Given the description of an element on the screen output the (x, y) to click on. 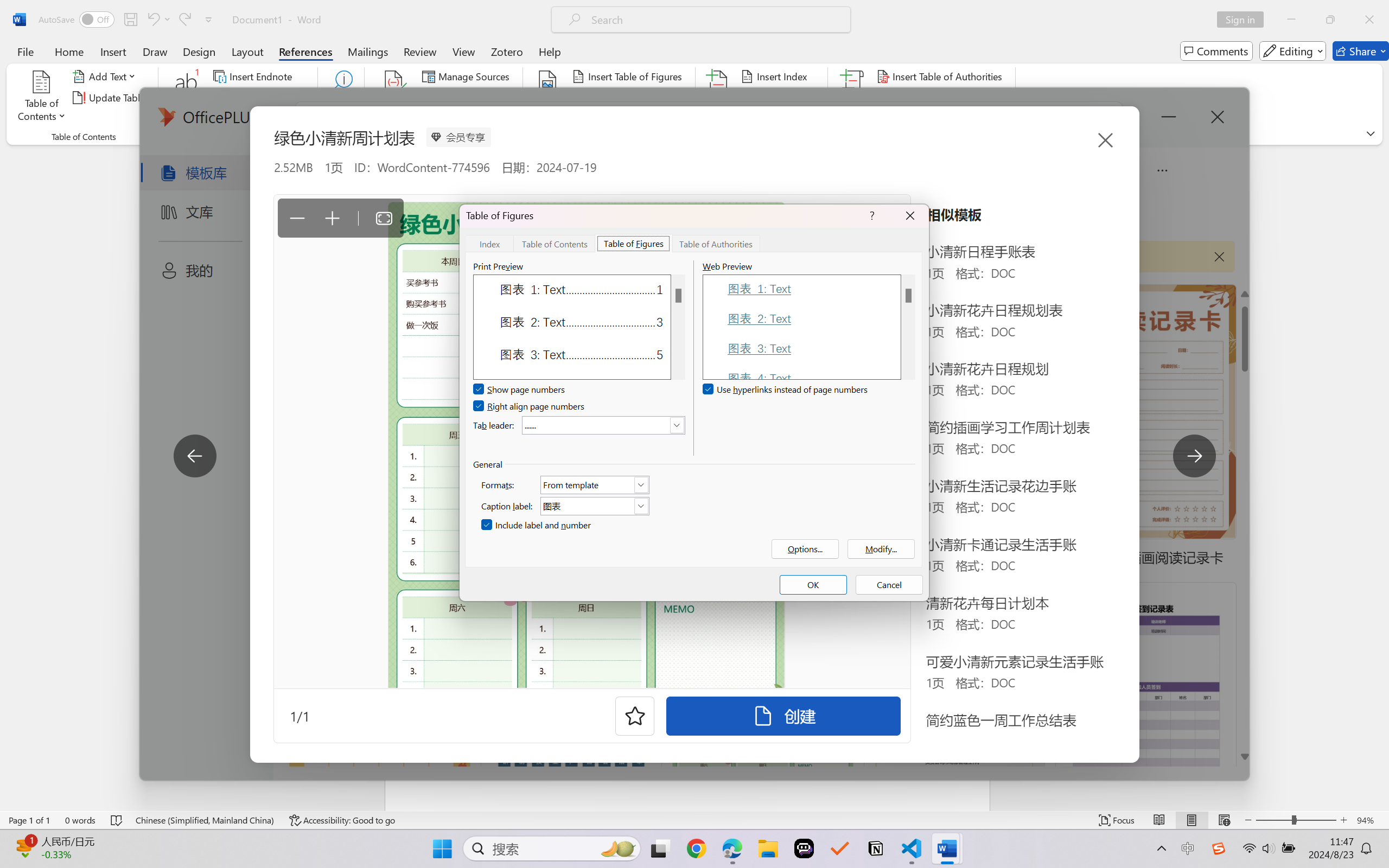
Insert Caption... (547, 97)
Footnote and Endnote Dialog... (311, 136)
Table of Figures (633, 243)
Mark Citation... (852, 97)
Add Text (106, 75)
Undo Apply Quick Style Set (152, 19)
OK (813, 584)
Sign in (1244, 19)
Use hyperlinks instead of page numbers (785, 389)
Show page numbers (519, 389)
